Given the description of an element on the screen output the (x, y) to click on. 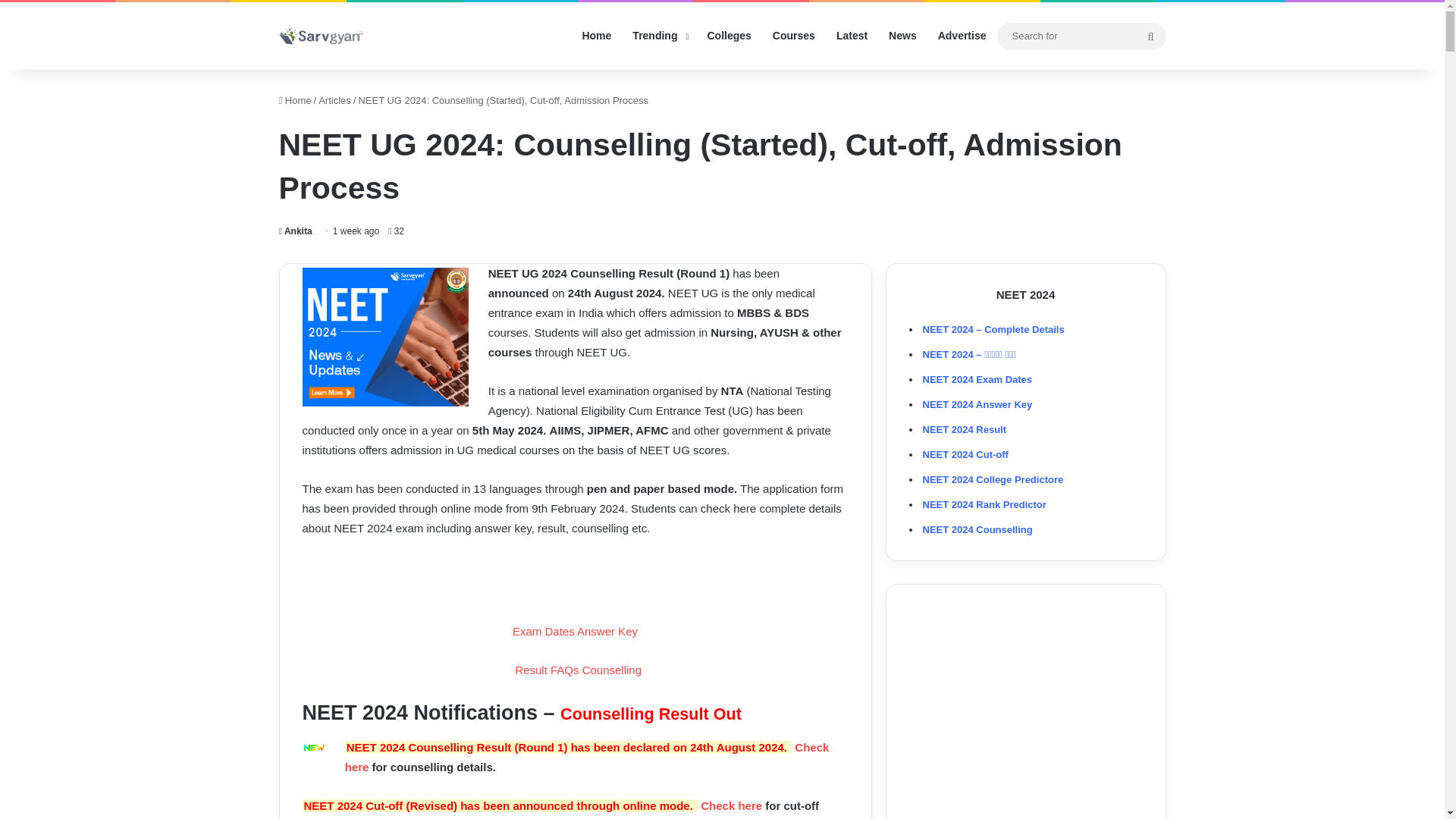
Trending (658, 35)
Ankita (296, 231)
FAQs (564, 669)
Exam Dates (543, 631)
Check here (730, 805)
Search for (1080, 36)
Courses (793, 35)
Ankita (296, 231)
Counselling (612, 669)
Result (531, 669)
